Given the description of an element on the screen output the (x, y) to click on. 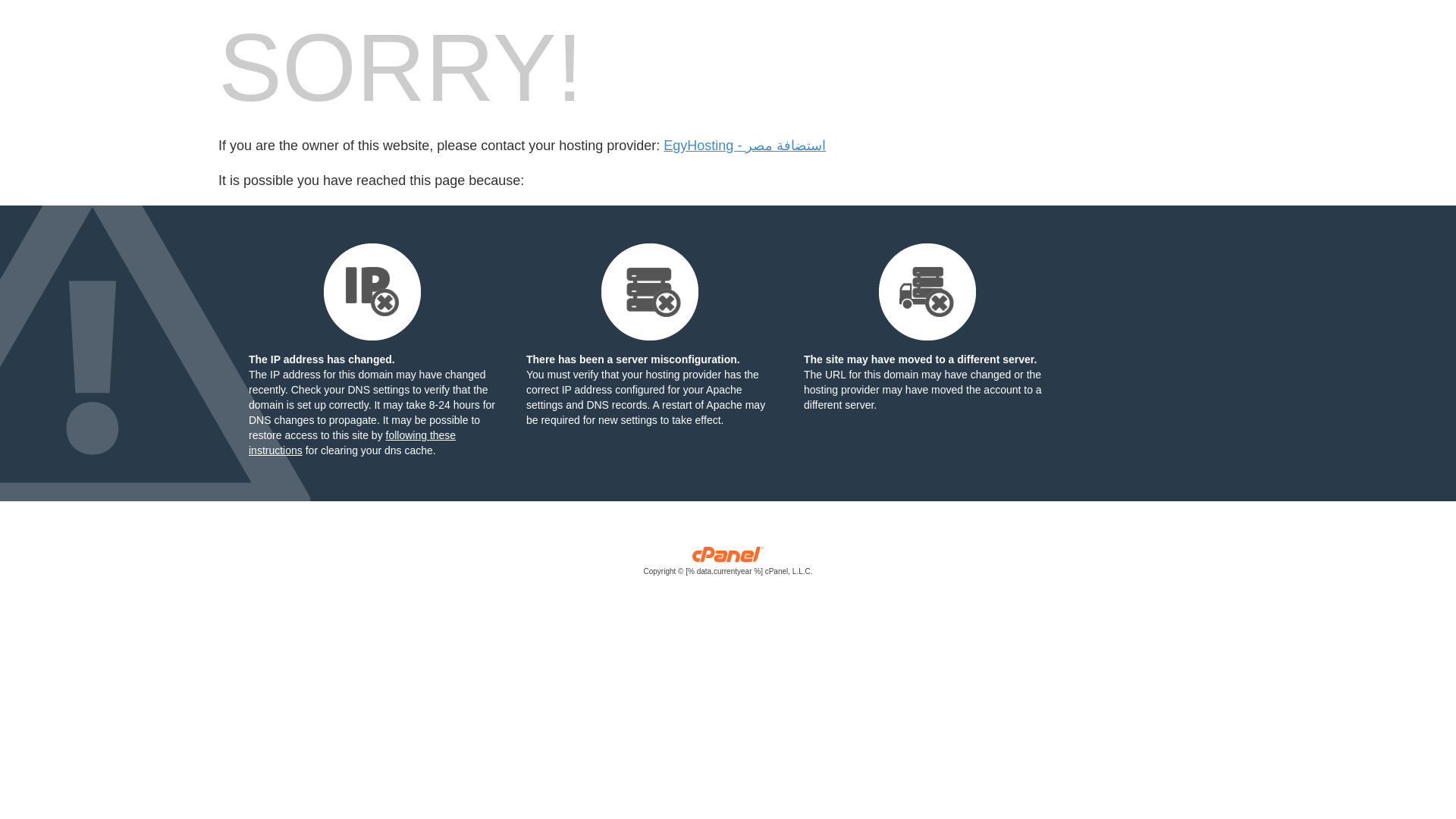
Click this link to contact the host (744, 145)
cPanel, L.L.C. (727, 564)
following these instructions (351, 442)
